Given the description of an element on the screen output the (x, y) to click on. 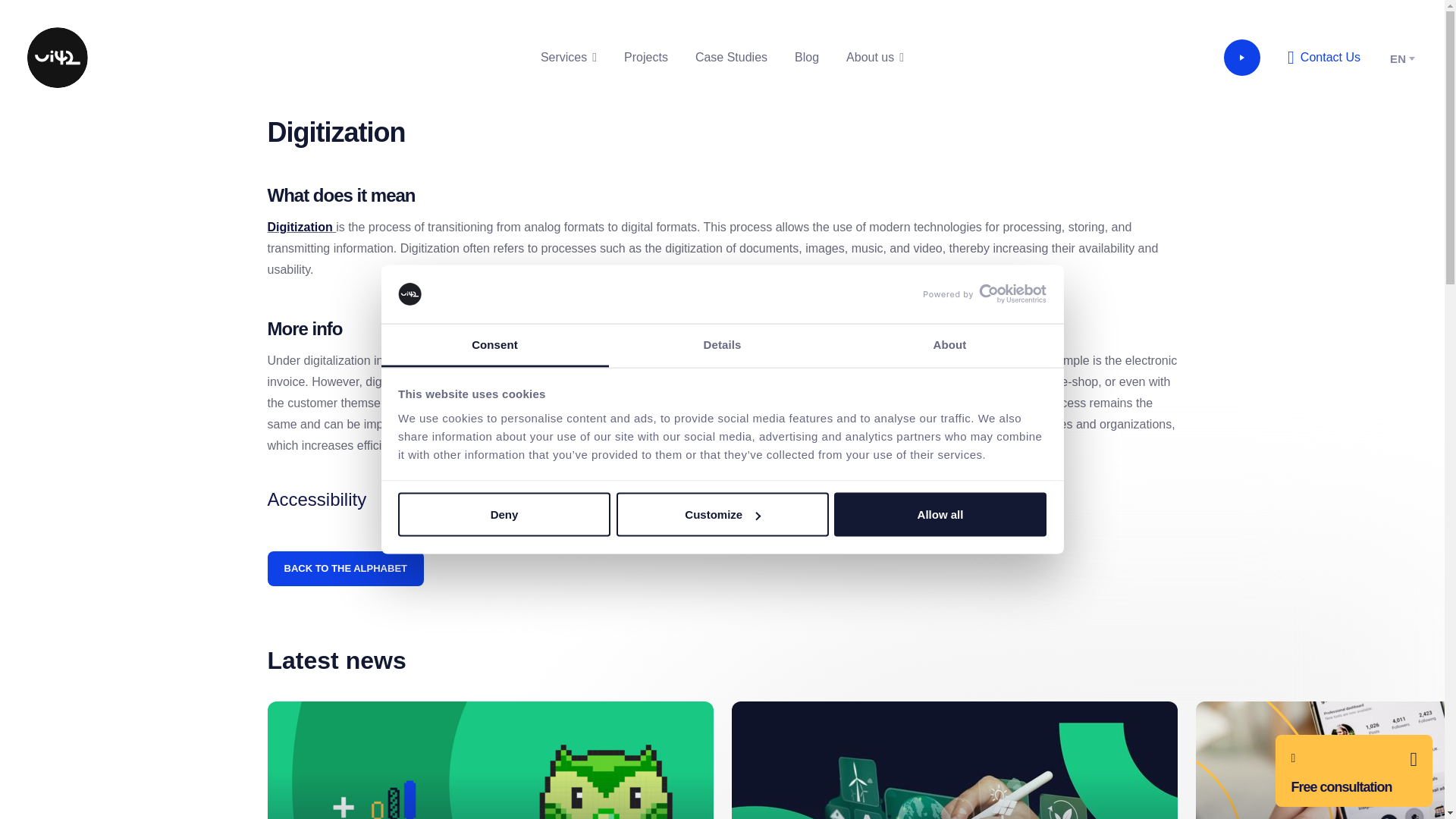
Consent (494, 344)
Play video (1242, 57)
Deny (503, 515)
About (948, 344)
Contact Us (1323, 57)
ui42 (57, 57)
Details (721, 344)
